Given the description of an element on the screen output the (x, y) to click on. 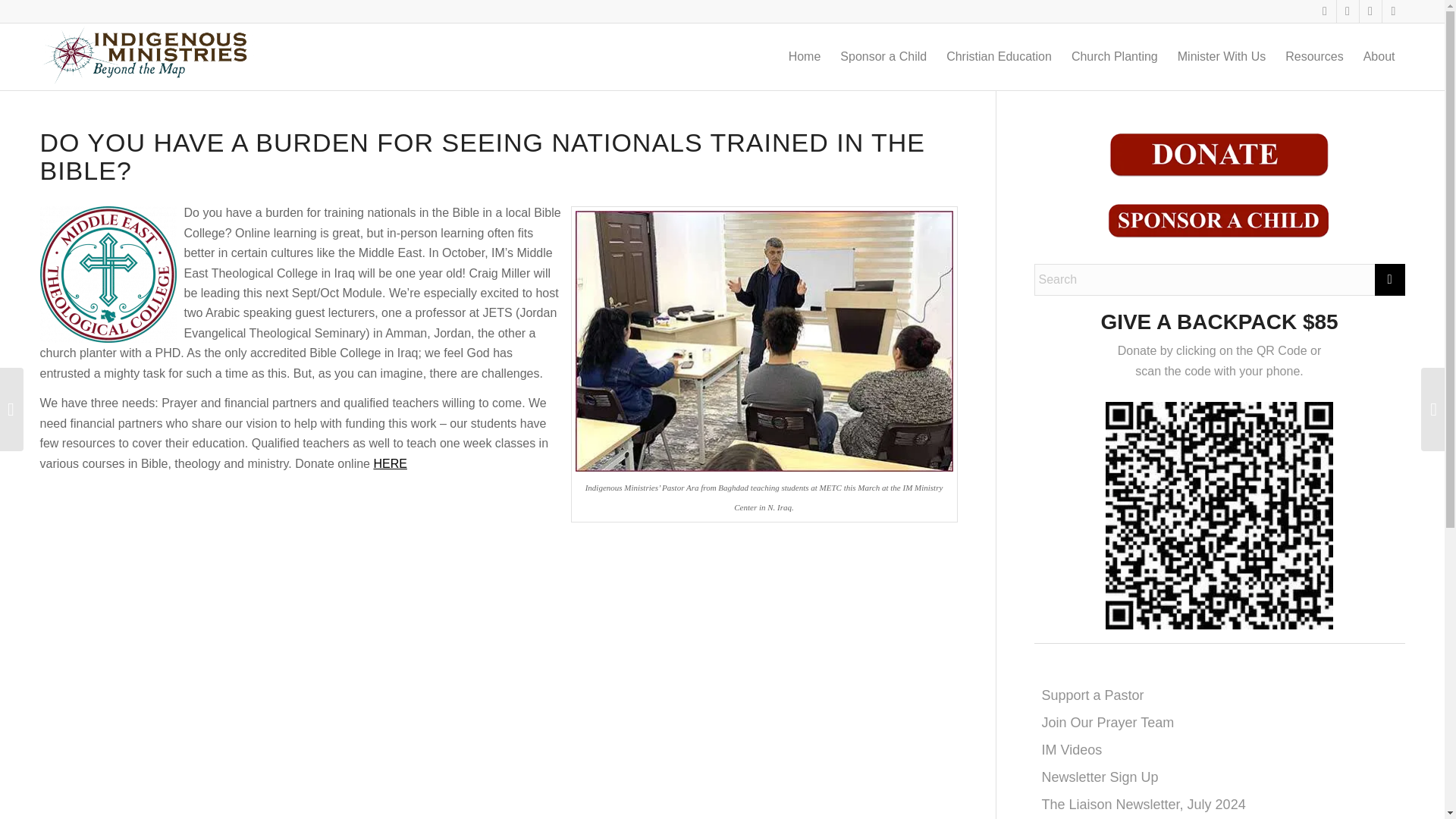
Click to start search (1389, 279)
HERE (389, 463)
Church Planting (1114, 56)
Christian Education (998, 56)
Instagram (1393, 11)
The Liaison Newsletter, July 2024 (1144, 804)
Indigenous-Ministries-Logo-short (147, 56)
Support a Pastor (1093, 694)
Newsletter Sign Up (1100, 776)
LinkedIn (1369, 11)
